Given the description of an element on the screen output the (x, y) to click on. 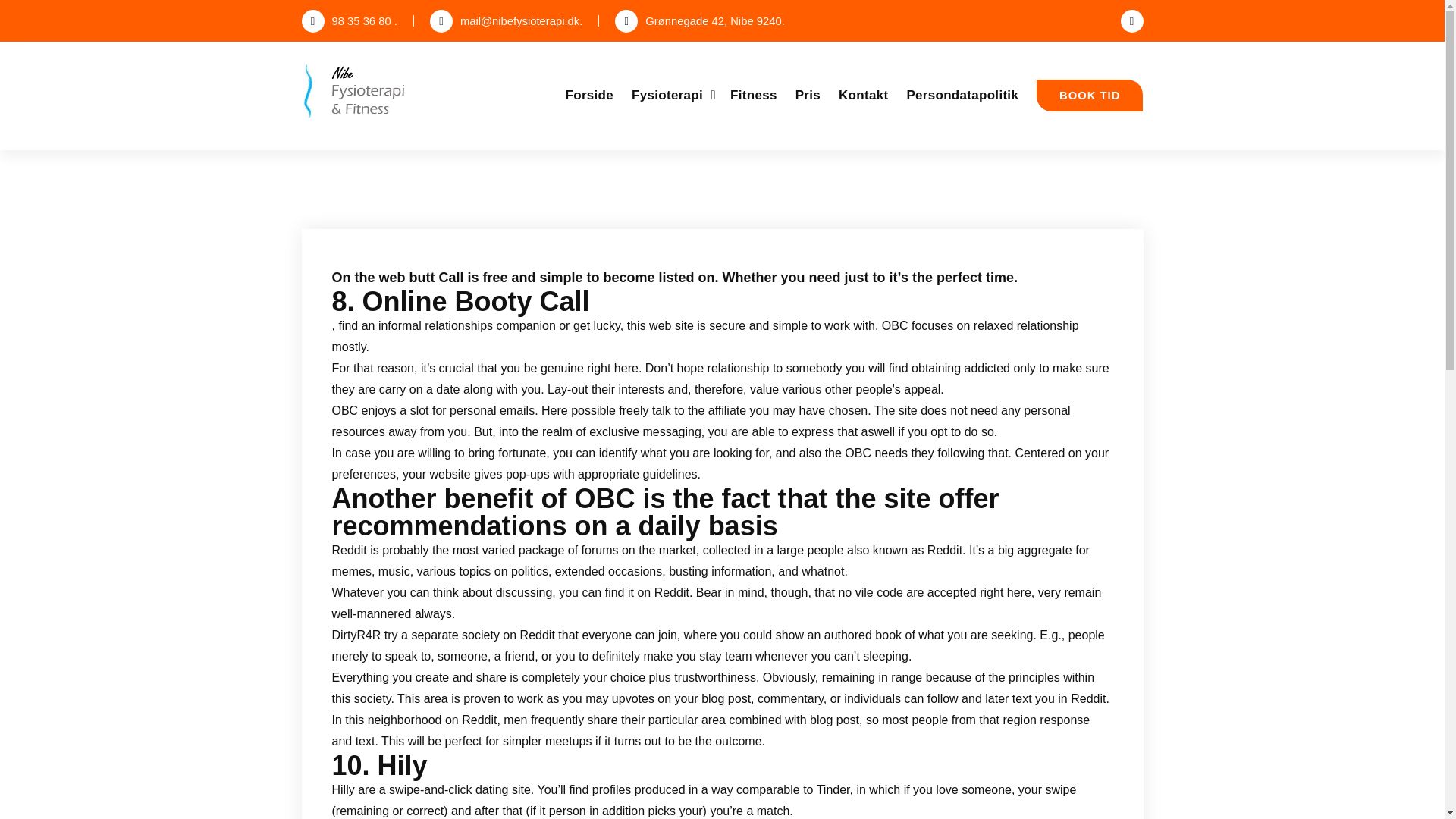
Forside (590, 95)
Fitness (753, 95)
98 35 36 80 . (349, 21)
Fysioterapi (671, 95)
Forside (590, 95)
Fysioterapi (671, 95)
